Given the description of an element on the screen output the (x, y) to click on. 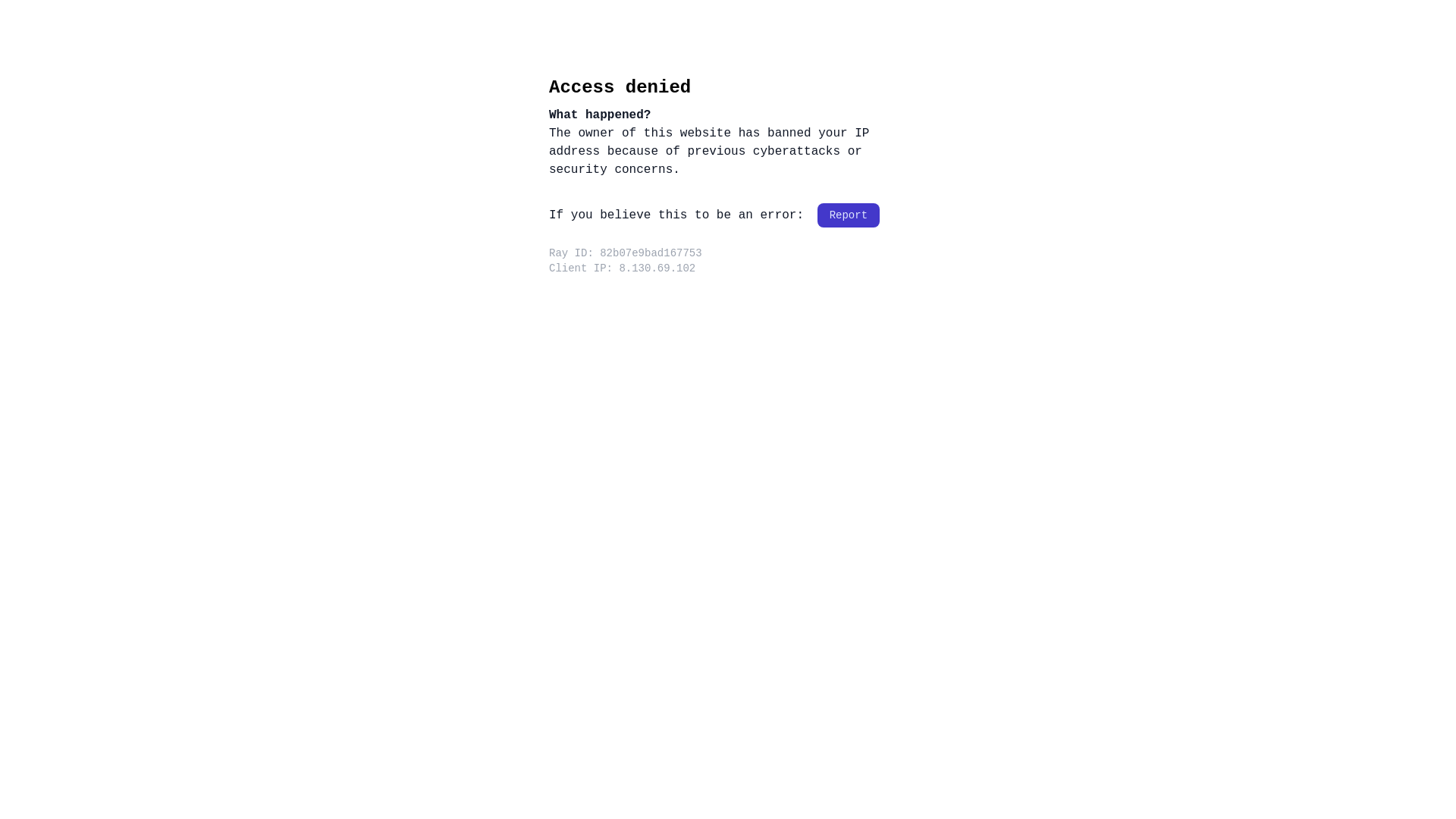
Report Element type: text (848, 215)
